Given the description of an element on the screen output the (x, y) to click on. 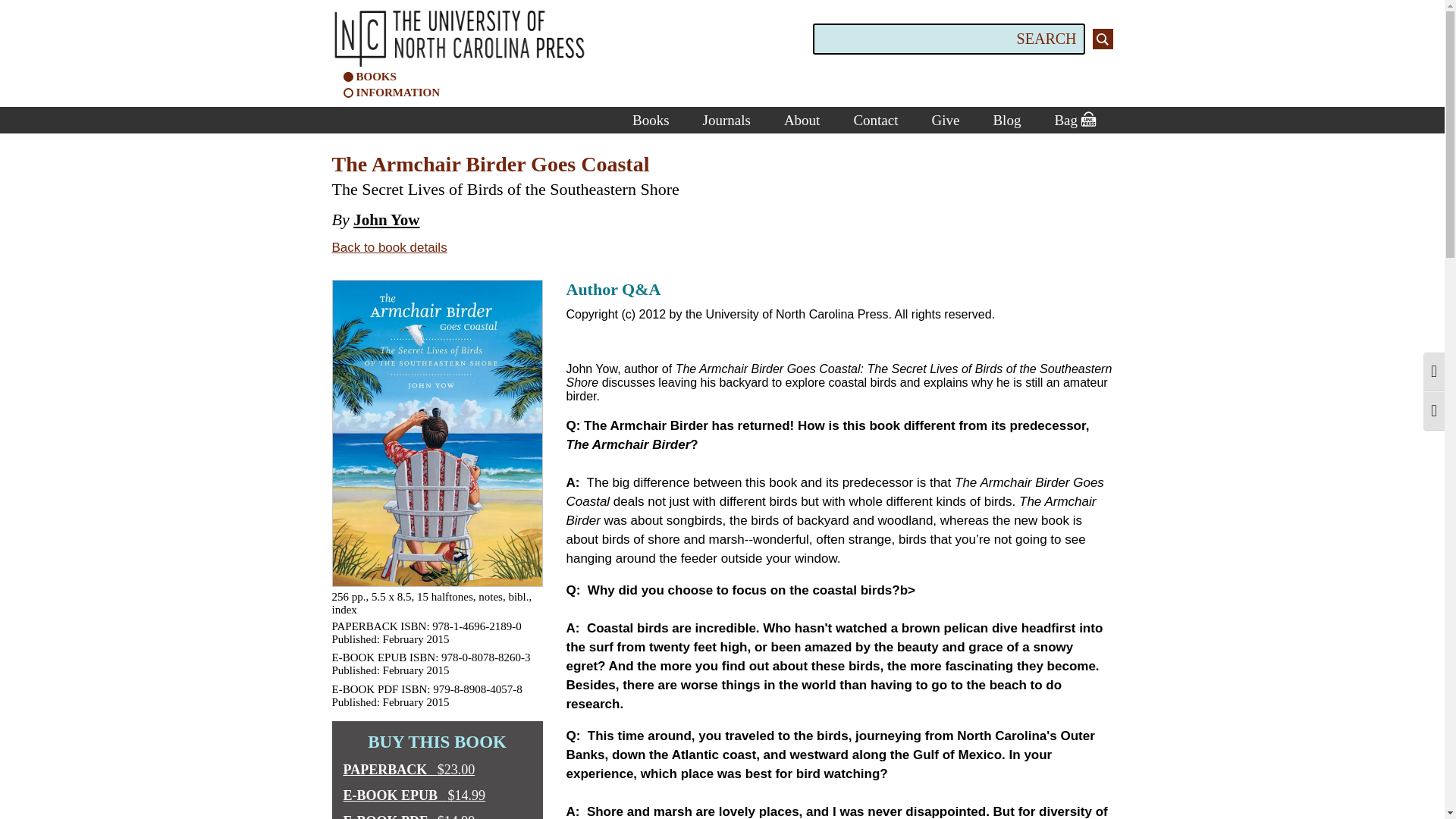
About (802, 120)
Bag (1074, 120)
John Yow (386, 219)
Blog (1005, 120)
Back to book details (388, 247)
Contact (874, 120)
Books (650, 120)
Journals (726, 120)
Give (944, 120)
